Given the description of an element on the screen output the (x, y) to click on. 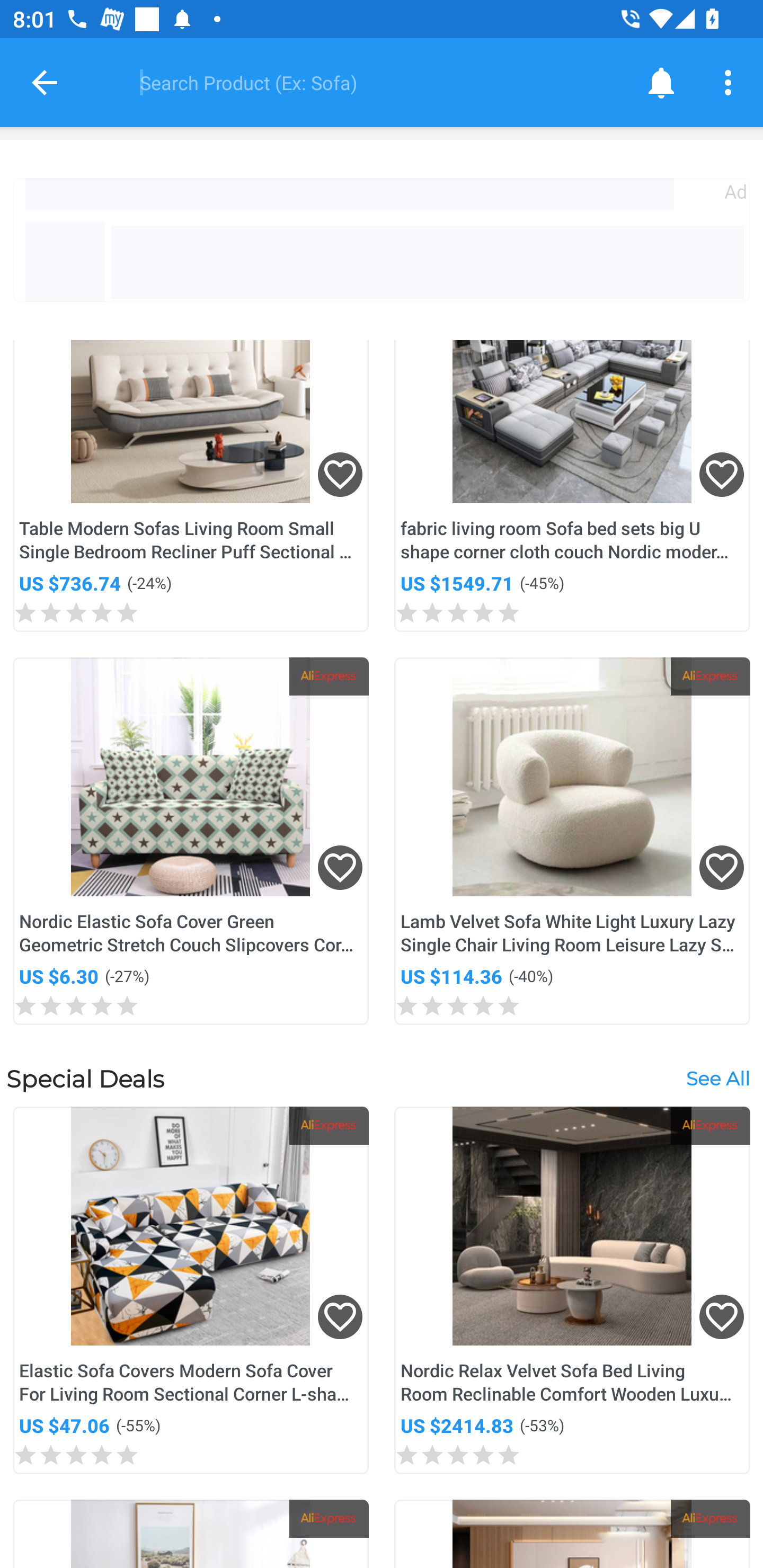
Collapse (44, 82)
More options (731, 81)
Search Product (Ex: Sofa) (368, 82)
See All (717, 1078)
